Given the description of an element on the screen output the (x, y) to click on. 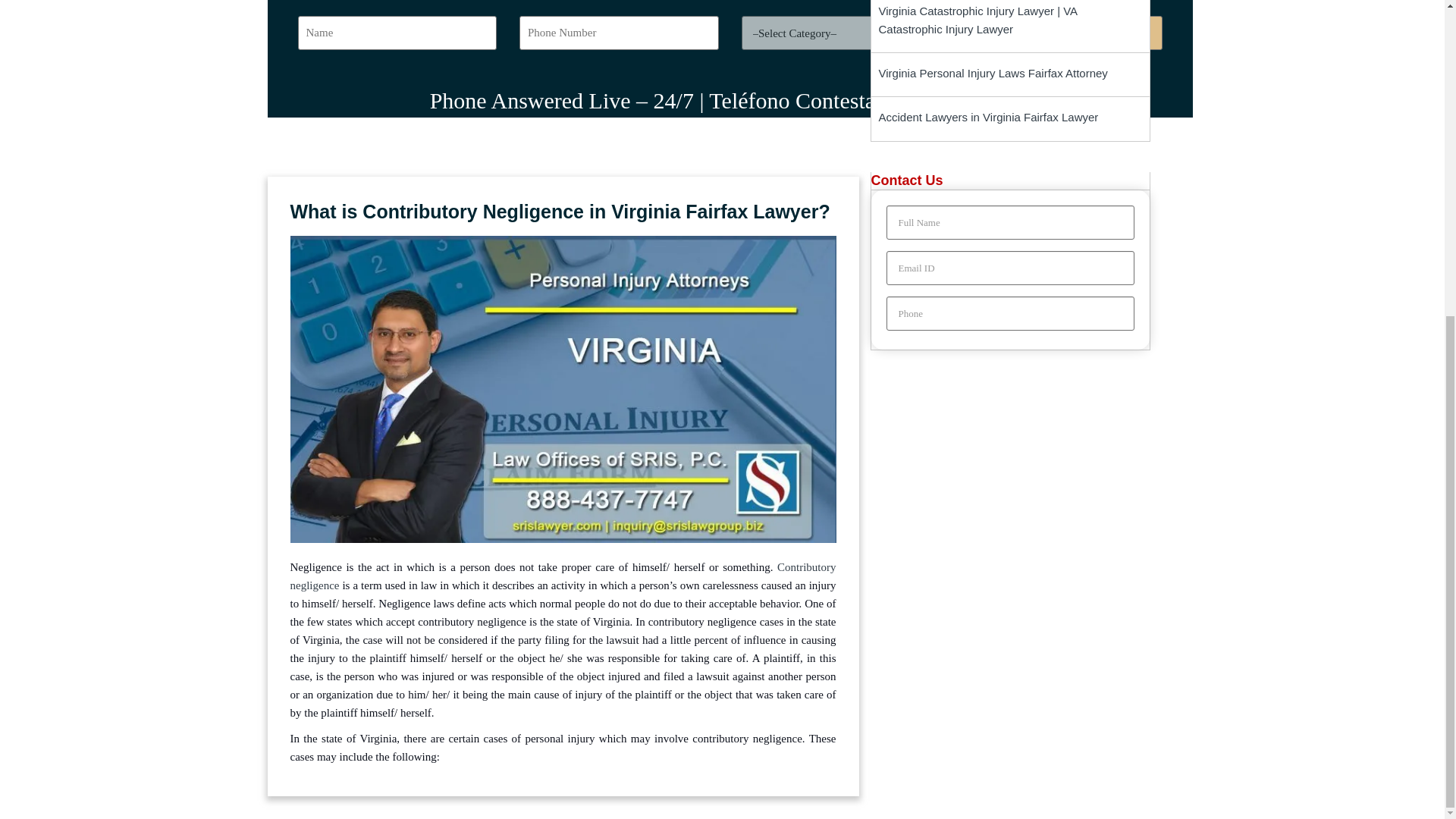
Find a lawyer (1061, 32)
Contributory negligence (562, 576)
Find a lawyer (1061, 32)
